Given the description of an element on the screen output the (x, y) to click on. 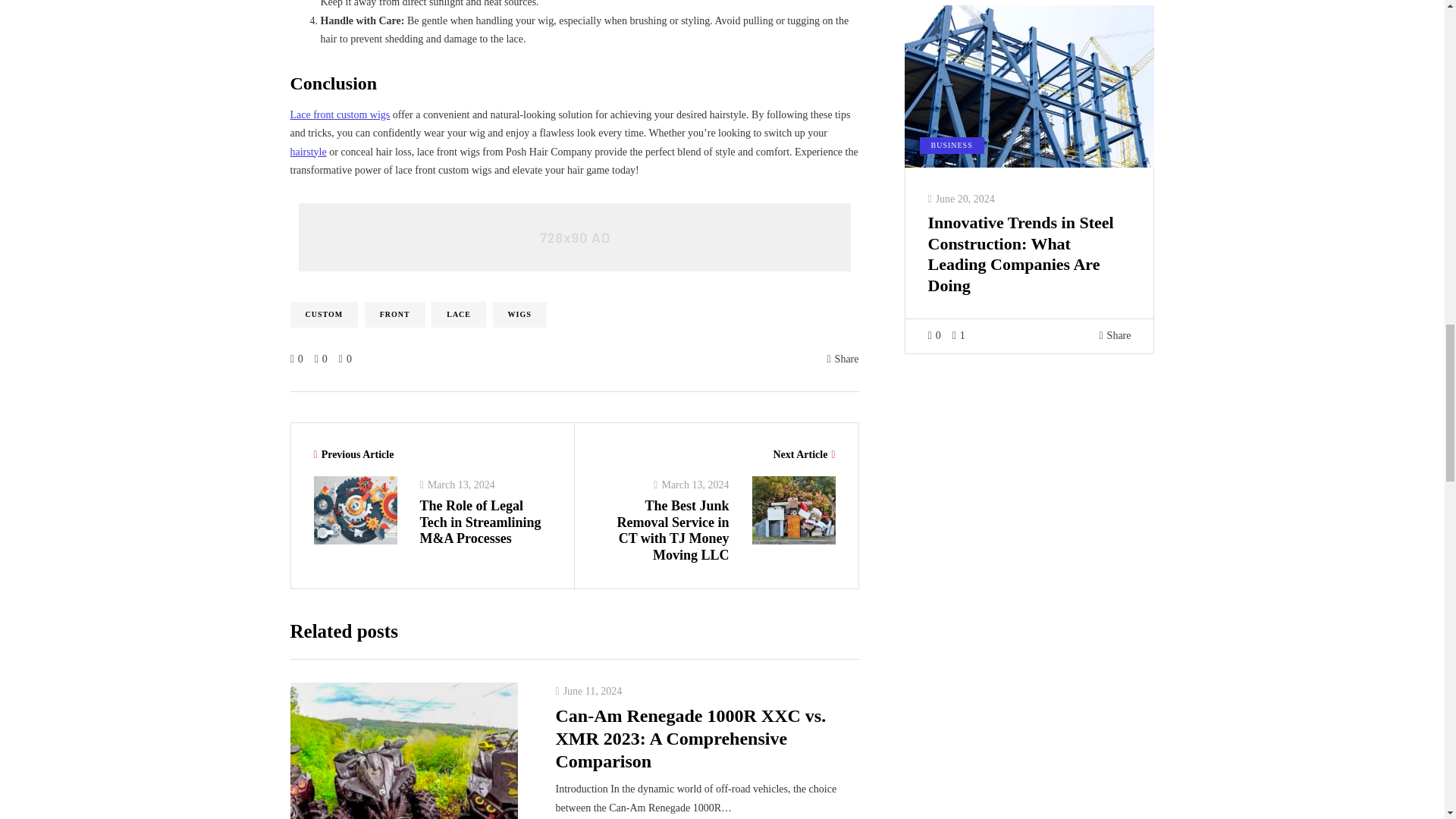
hairstyle (307, 151)
Lace front custom wigs (339, 114)
